Given the description of an element on the screen output the (x, y) to click on. 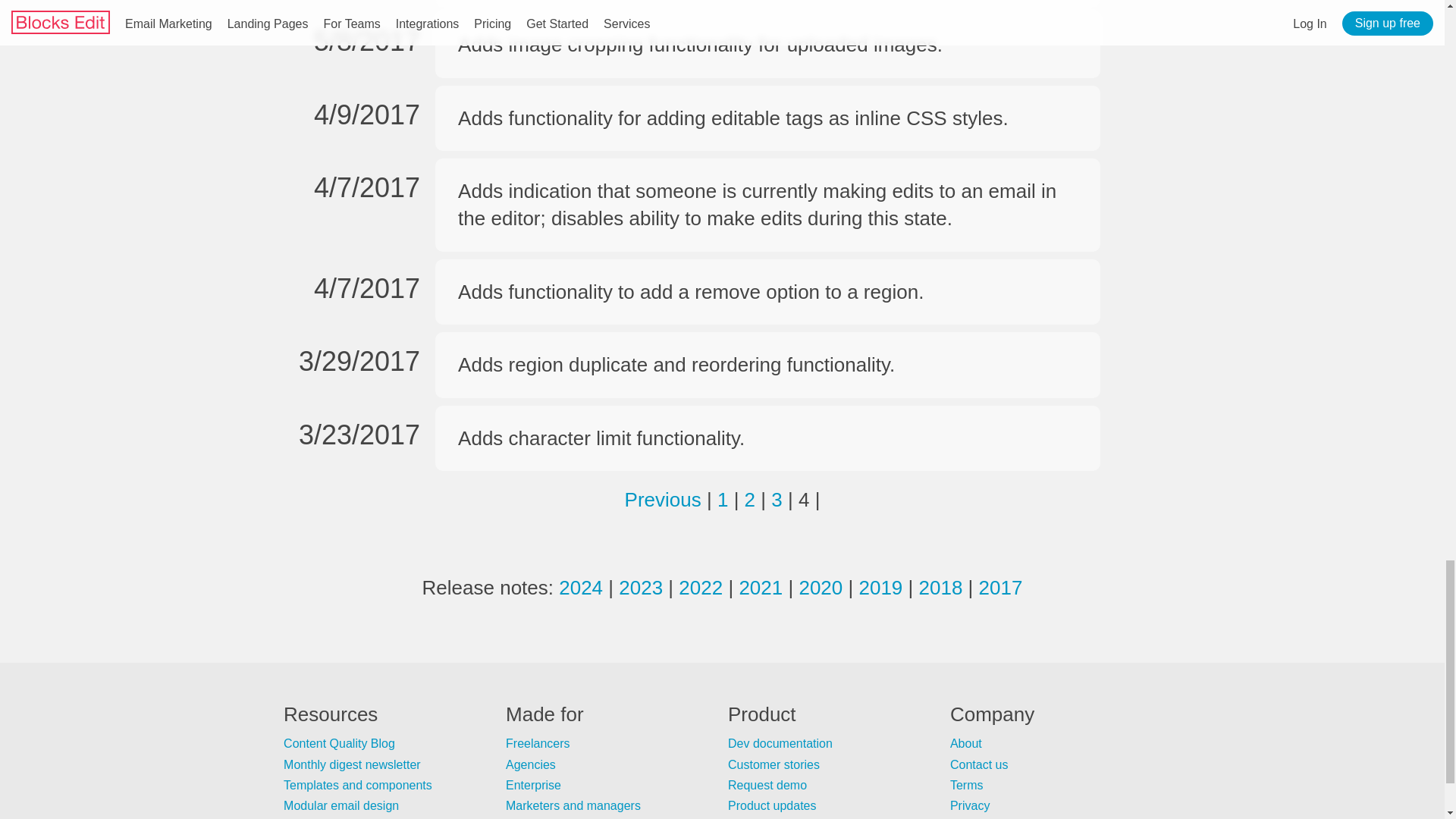
2022 (700, 587)
2023 (640, 587)
Previous (662, 499)
Templates and components (357, 784)
2020 (820, 587)
2019 (880, 587)
2021 (760, 587)
Modular email design (340, 805)
2017 (1000, 587)
Agencies (530, 764)
Marketers and managers (572, 805)
Monthly digest newsletter (351, 764)
Enterprise (532, 784)
Freelancers (537, 743)
2024 (580, 587)
